Given the description of an element on the screen output the (x, y) to click on. 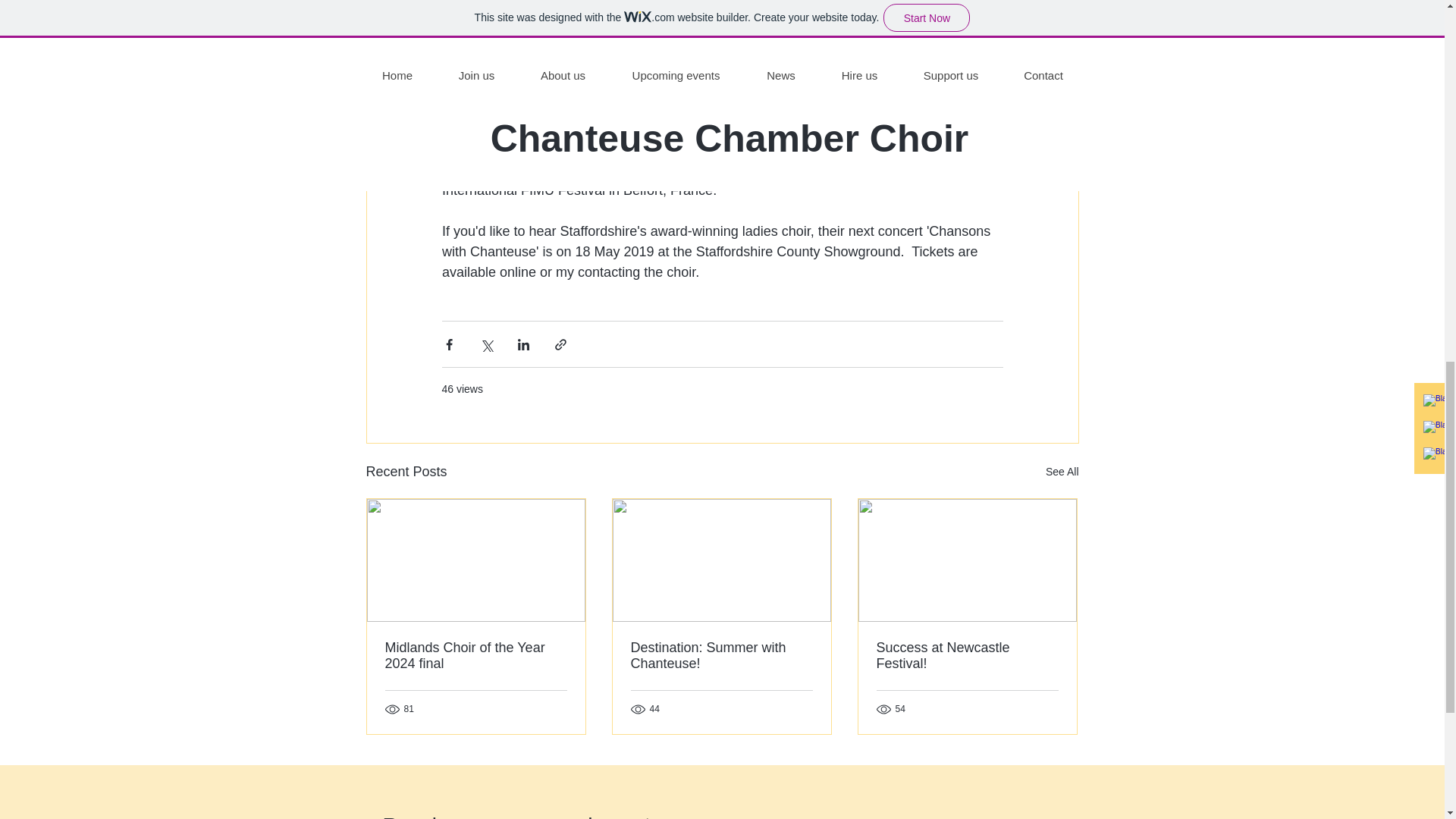
'Chansons with Chanteuse' (716, 241)
Success at Newcastle Festival! (967, 655)
Destination: Summer with Chanteuse! (721, 655)
Midlands Choir of the Year 2024 final (476, 655)
See All (1061, 472)
